Given the description of an element on the screen output the (x, y) to click on. 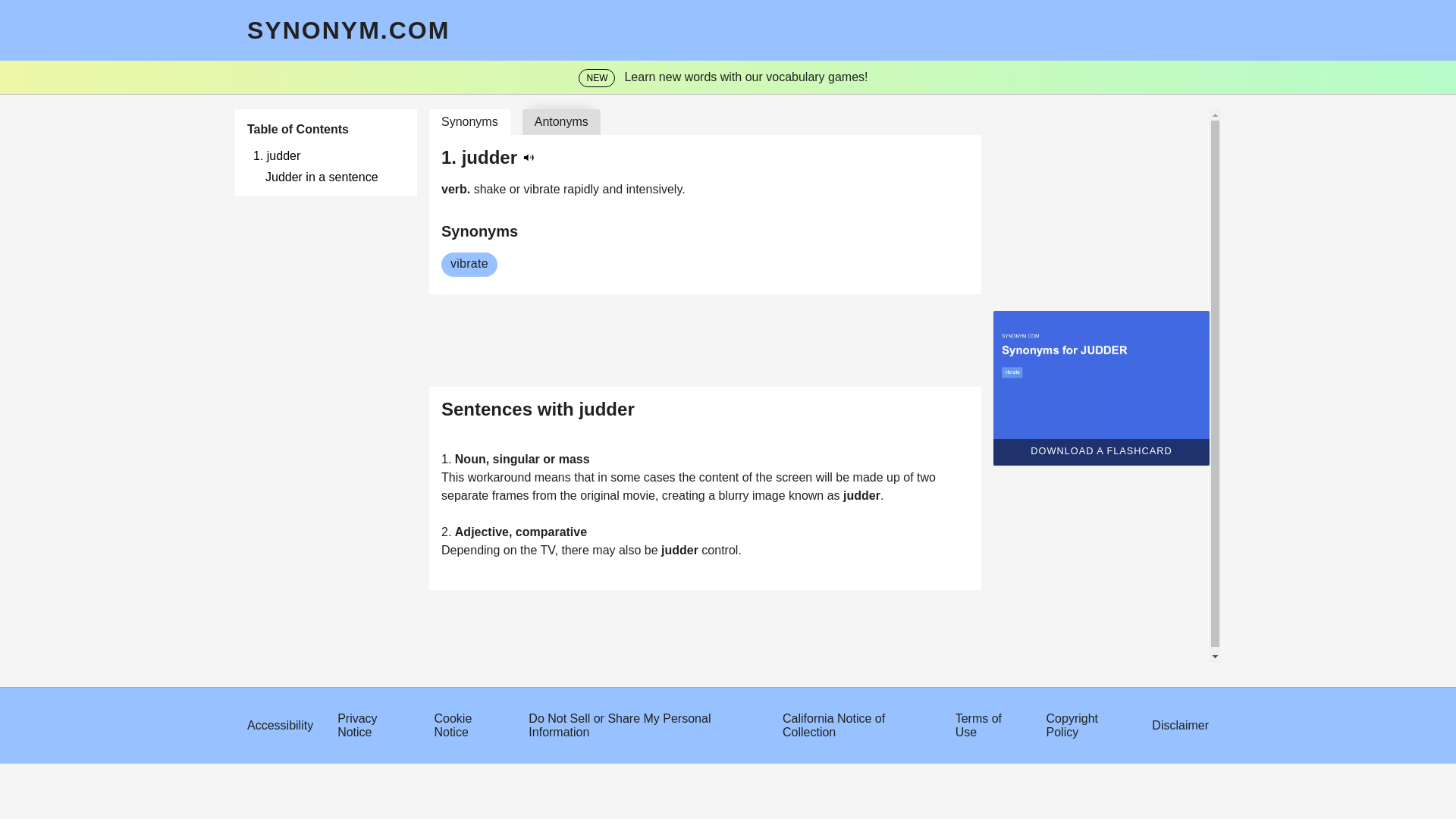
two (926, 477)
the (688, 477)
means (553, 477)
vibrate (543, 188)
1. judder (328, 155)
shake (491, 188)
separate (466, 495)
SYNONYM.COM (348, 30)
made (869, 477)
image (770, 495)
the (765, 477)
known (808, 495)
some (626, 477)
will (825, 477)
This (454, 477)
